Given the description of an element on the screen output the (x, y) to click on. 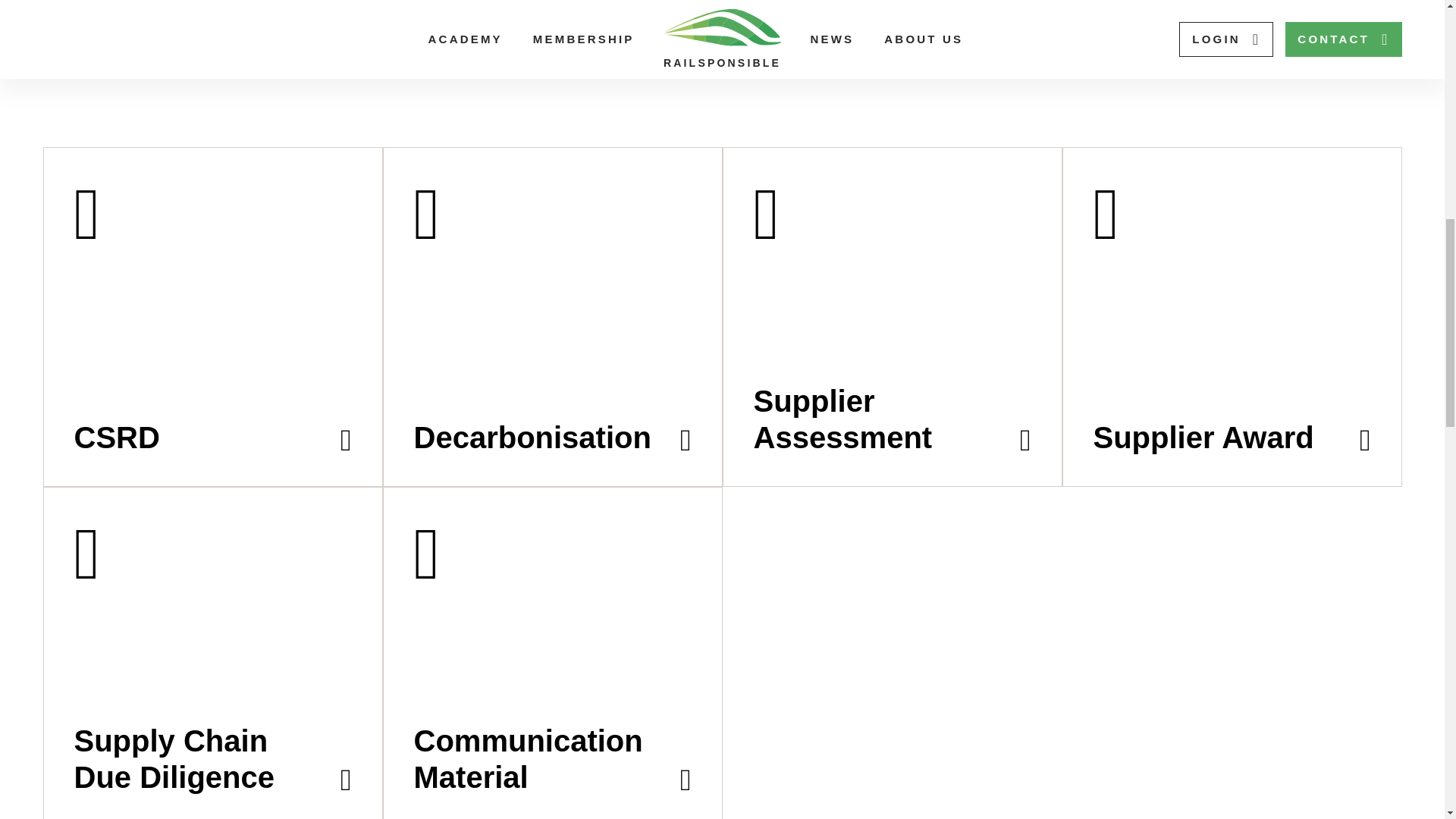
Communication Material (551, 652)
Decarbonisation (551, 316)
Supply Chain Due Diligence (211, 652)
Supplier Assessment (891, 316)
Supplier Award (1230, 316)
CSRD (211, 316)
